Given the description of an element on the screen output the (x, y) to click on. 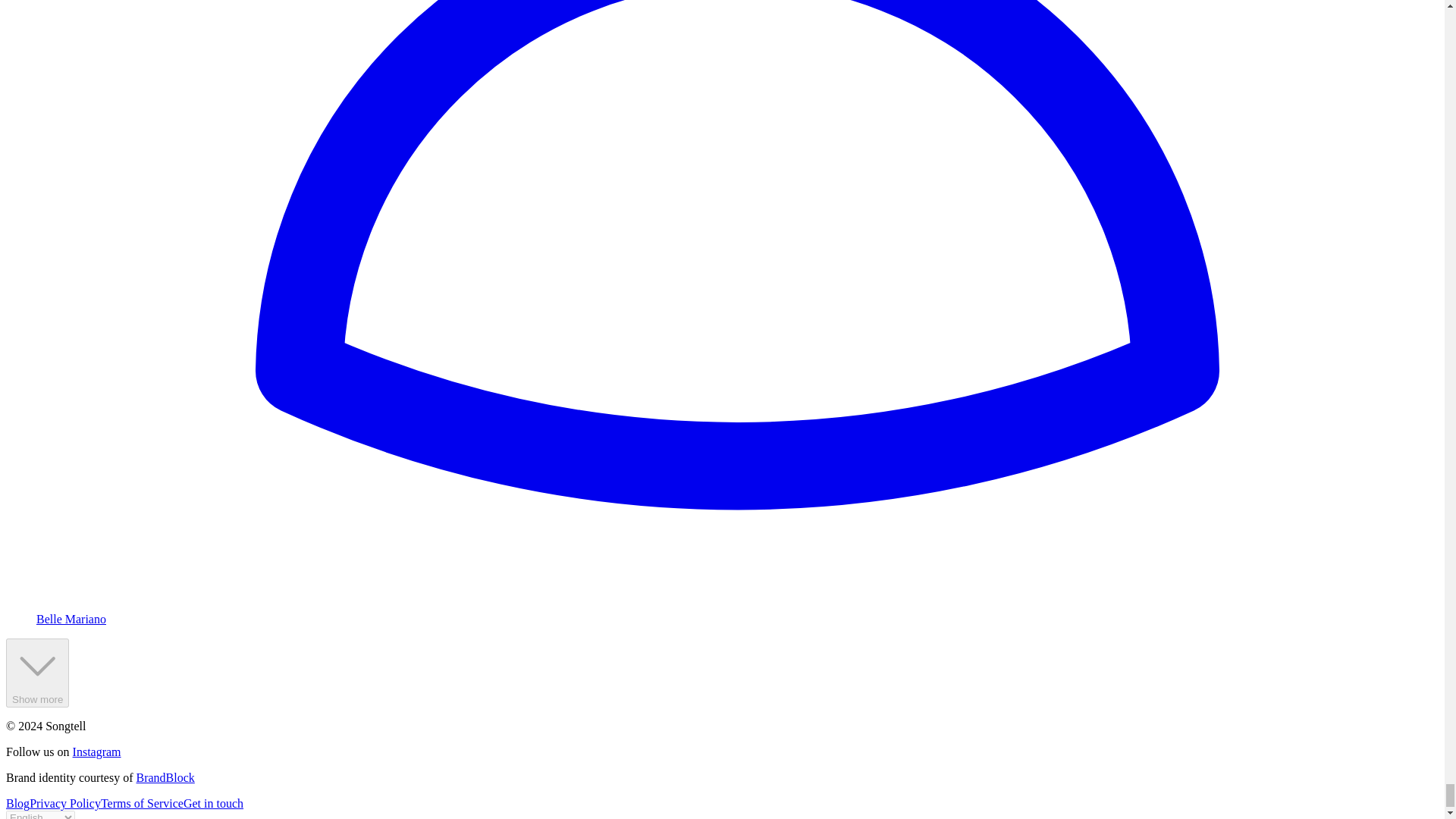
BrandBlock (165, 777)
Privacy Policy (64, 802)
Get in touch (213, 802)
Show more (36, 672)
Blog (17, 802)
Instagram (96, 751)
Terms of Service (141, 802)
